Given the description of an element on the screen output the (x, y) to click on. 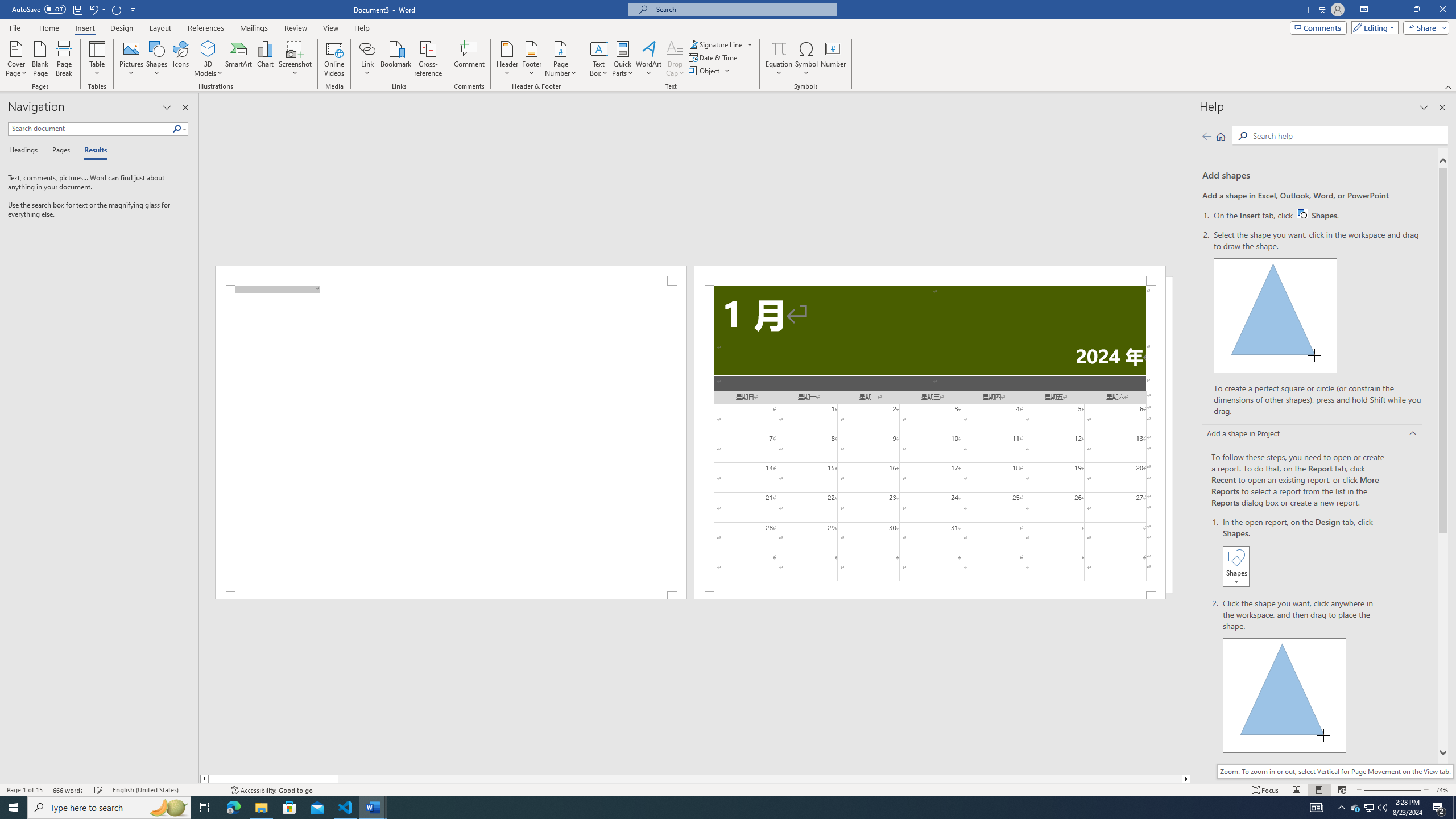
Online Videos... (333, 58)
Comment (469, 58)
Number... (833, 58)
Equation (778, 58)
Page 1 content (451, 438)
Header -Section 1- (930, 275)
Screenshot (295, 58)
Undo New Page (96, 9)
